Given the description of an element on the screen output the (x, y) to click on. 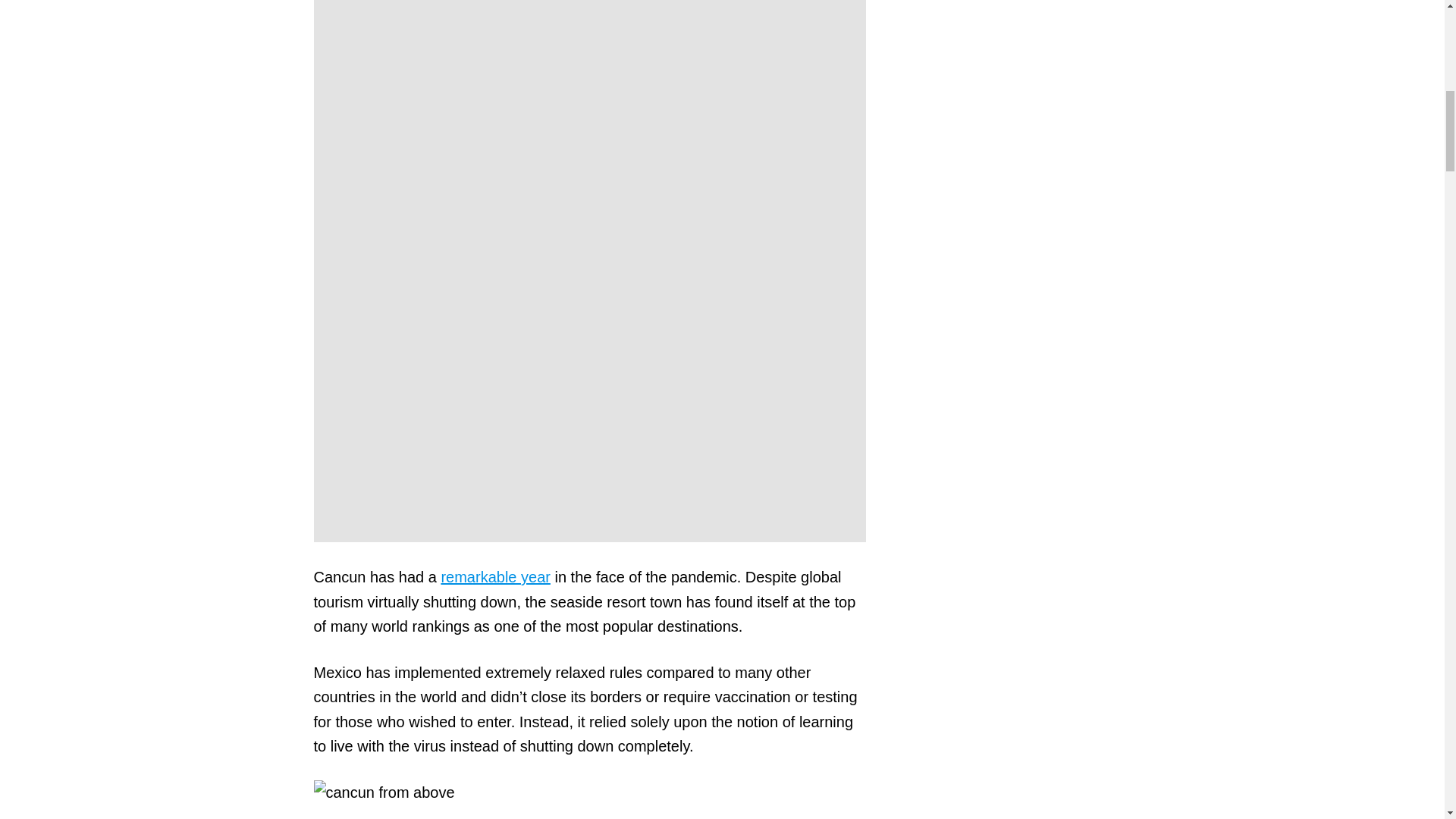
remarkable year (495, 576)
